Given the description of an element on the screen output the (x, y) to click on. 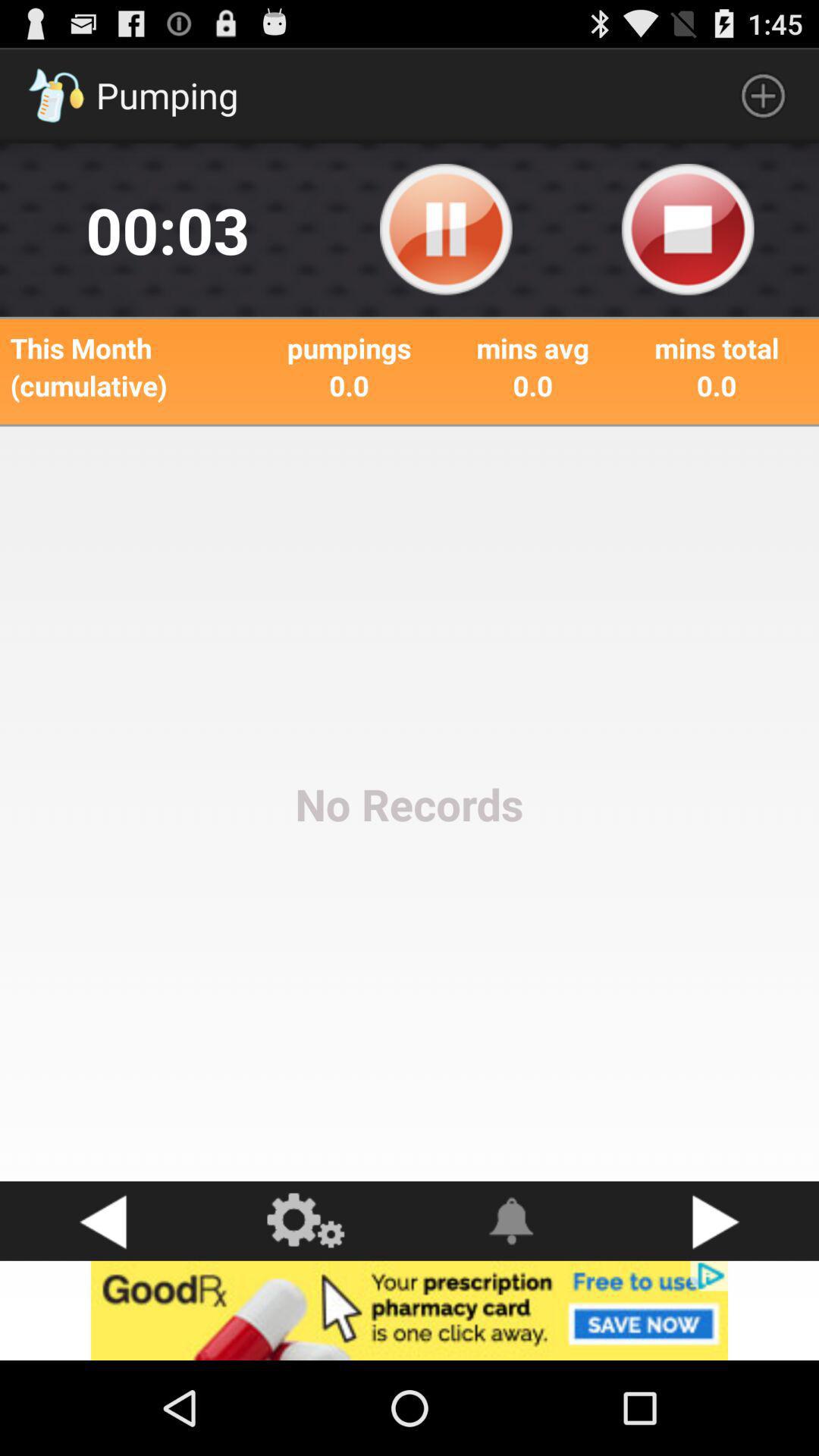
go back (102, 1220)
